Given the description of an element on the screen output the (x, y) to click on. 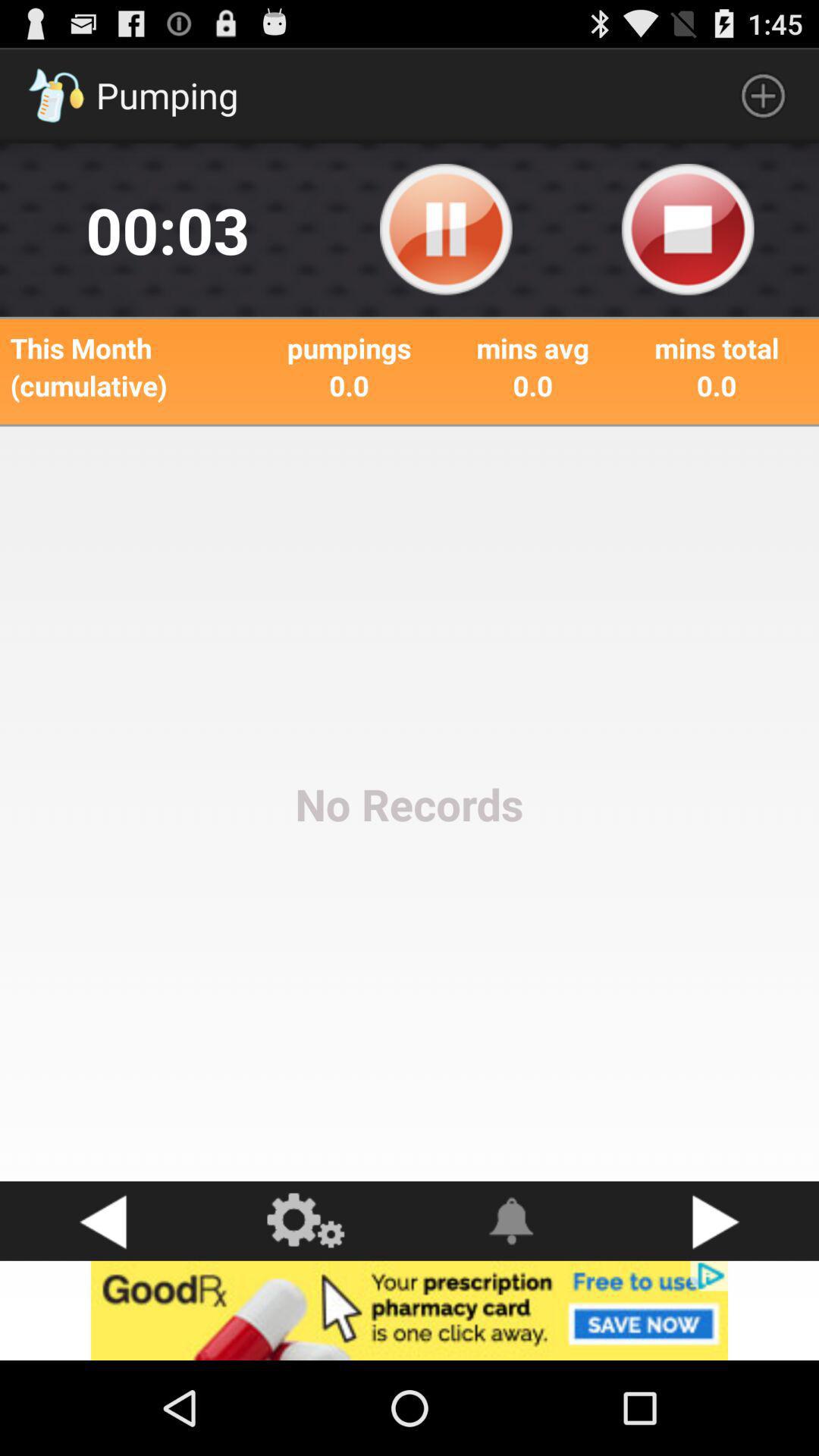
go back (102, 1220)
